Given the description of an element on the screen output the (x, y) to click on. 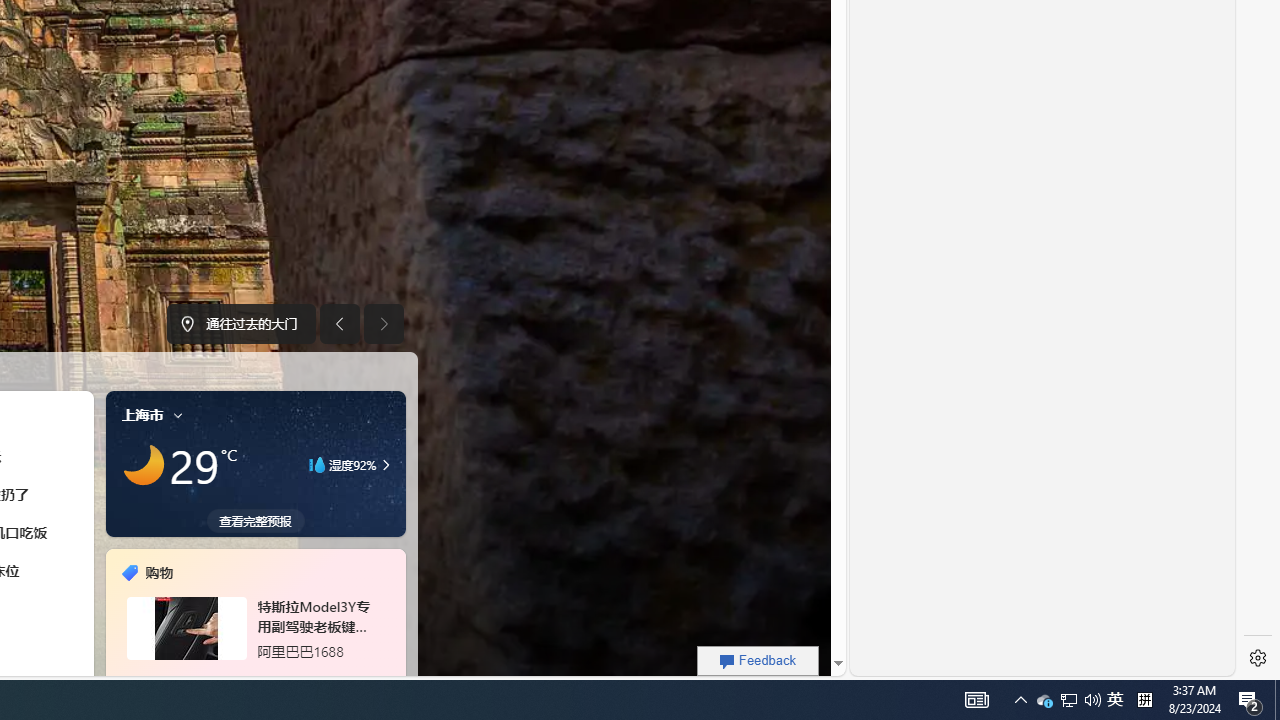
Class: weather-arrow-glyph (385, 464)
Class: icon-img (177, 414)
Previous image (338, 323)
tab-10 (267, 678)
tab-8 (242, 678)
tab-9 (255, 678)
tab-7 (231, 678)
Next image (383, 323)
